Given the description of an element on the screen output the (x, y) to click on. 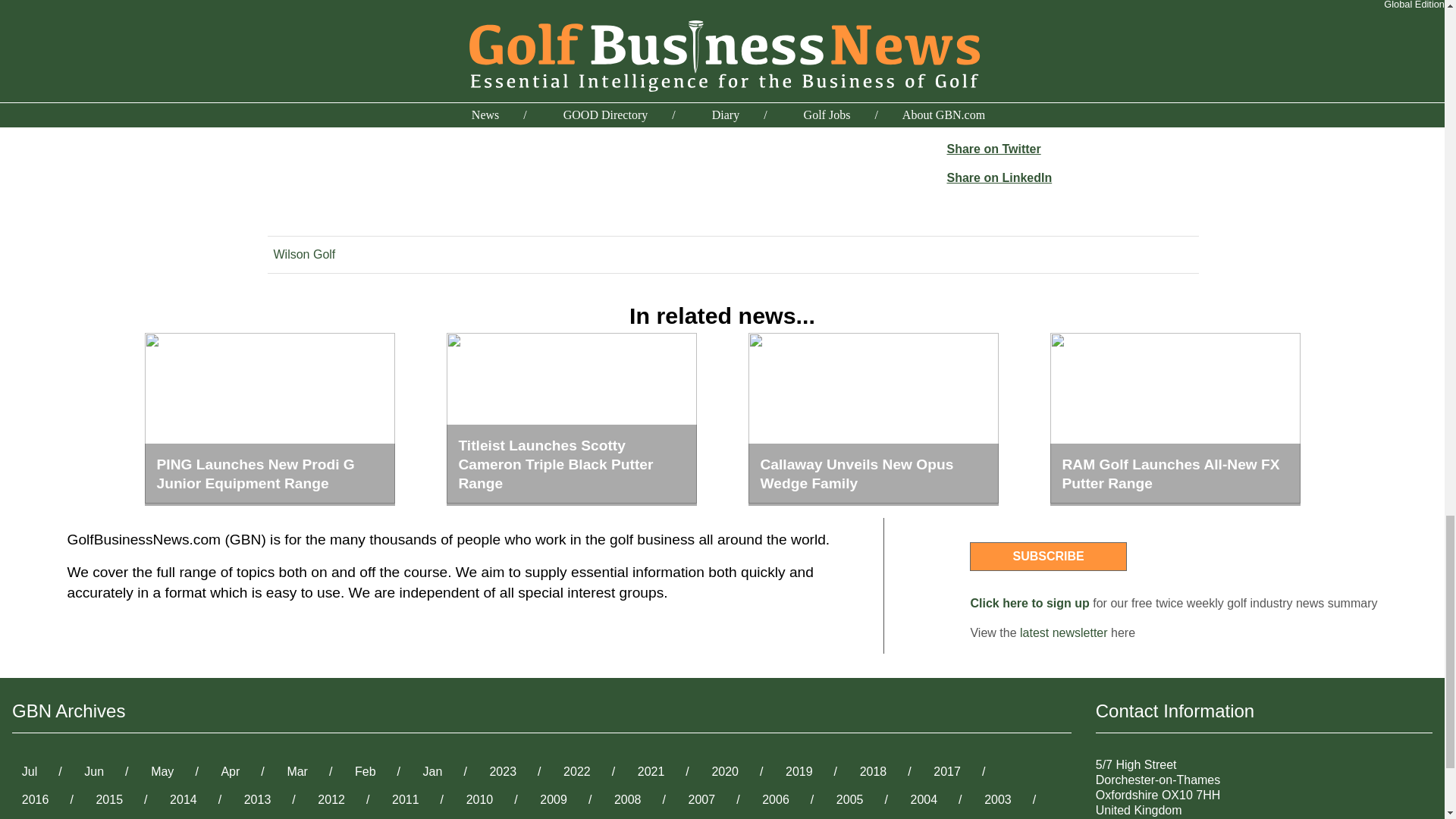
SUBSCRIBE (1047, 556)
Jul (29, 771)
Share on Twitter (993, 148)
Callaway Unveils New Opus Wedge Family (872, 419)
Jun (94, 771)
May (162, 771)
RAM Golf Launches All-New FX Putter Range (1174, 419)
Titleist Launches Scotty Cameron Triple Black Putter Range (570, 419)
PING Launches New Prodi G Junior Equipment Range (269, 419)
Click here to sign up (1029, 603)
Share on LinkedIn (998, 177)
Wilson Golf (303, 254)
latest newsletter (1064, 632)
